Given the description of an element on the screen output the (x, y) to click on. 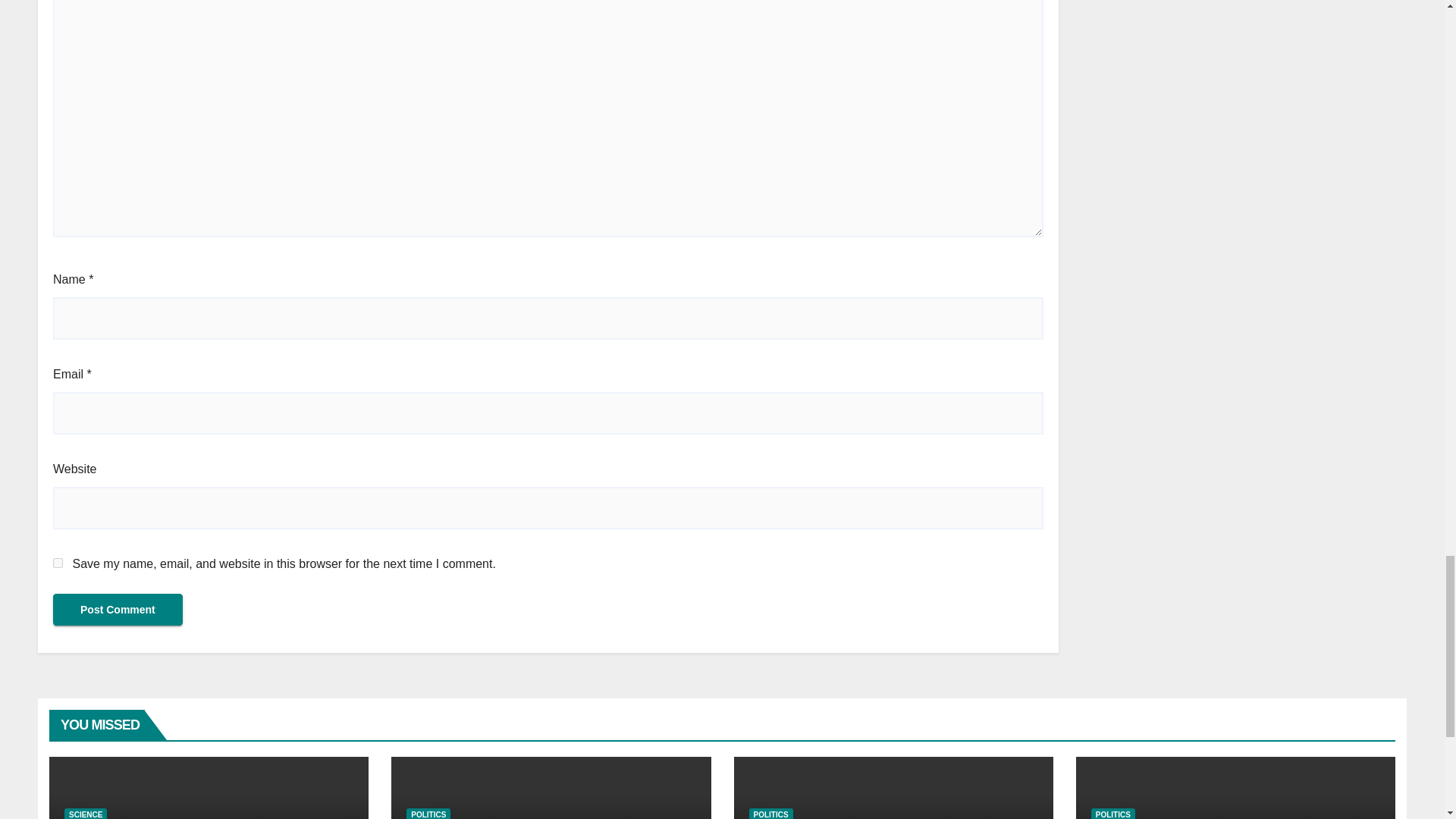
yes (57, 562)
Post Comment (117, 609)
Post Comment (117, 609)
